Given the description of an element on the screen output the (x, y) to click on. 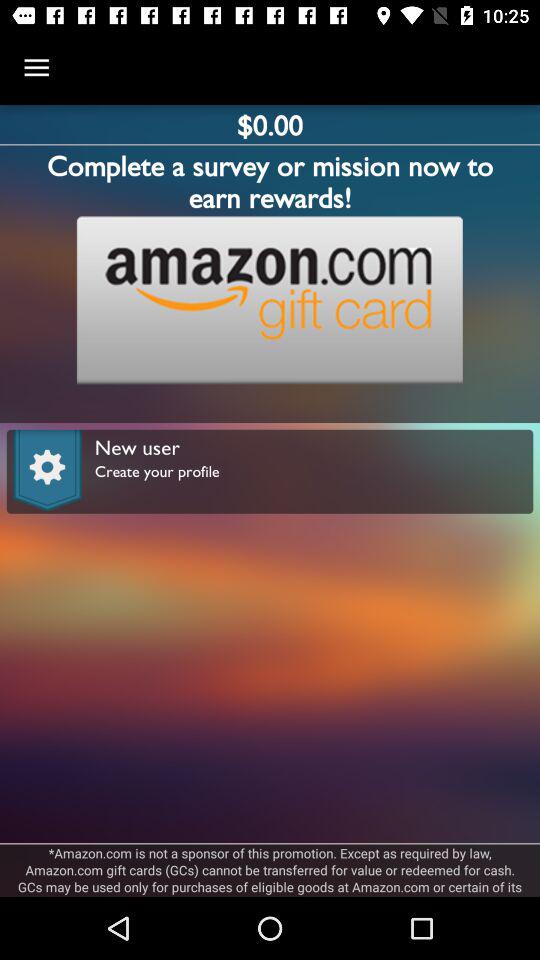
flip until amazon com is (269, 870)
